Given the description of an element on the screen output the (x, y) to click on. 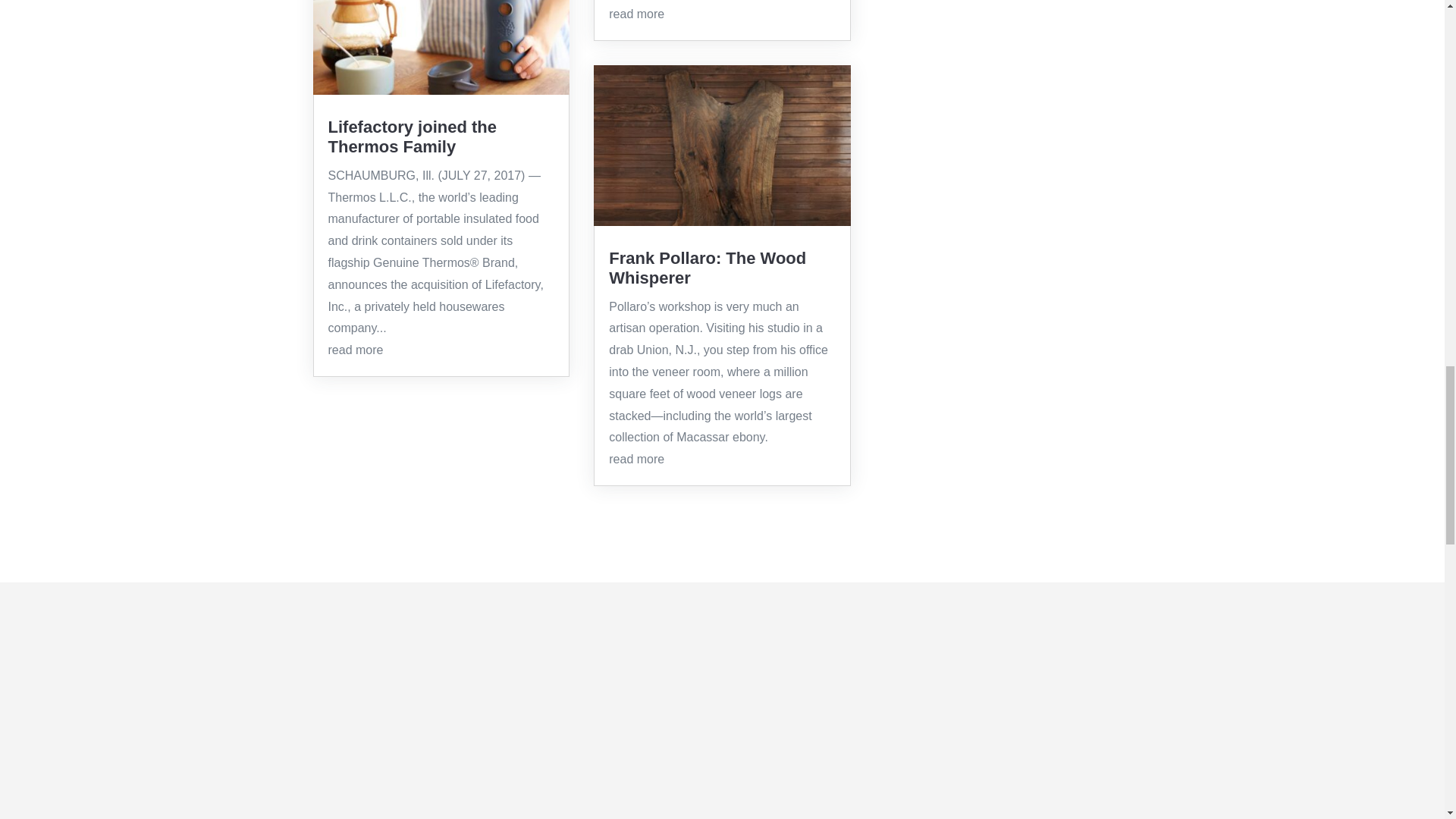
read more (635, 13)
Lifefactory joined the Thermos Family (411, 136)
read more (354, 349)
Frank Pollaro: The Wood Whisperer (707, 267)
read more (635, 459)
